Given the description of an element on the screen output the (x, y) to click on. 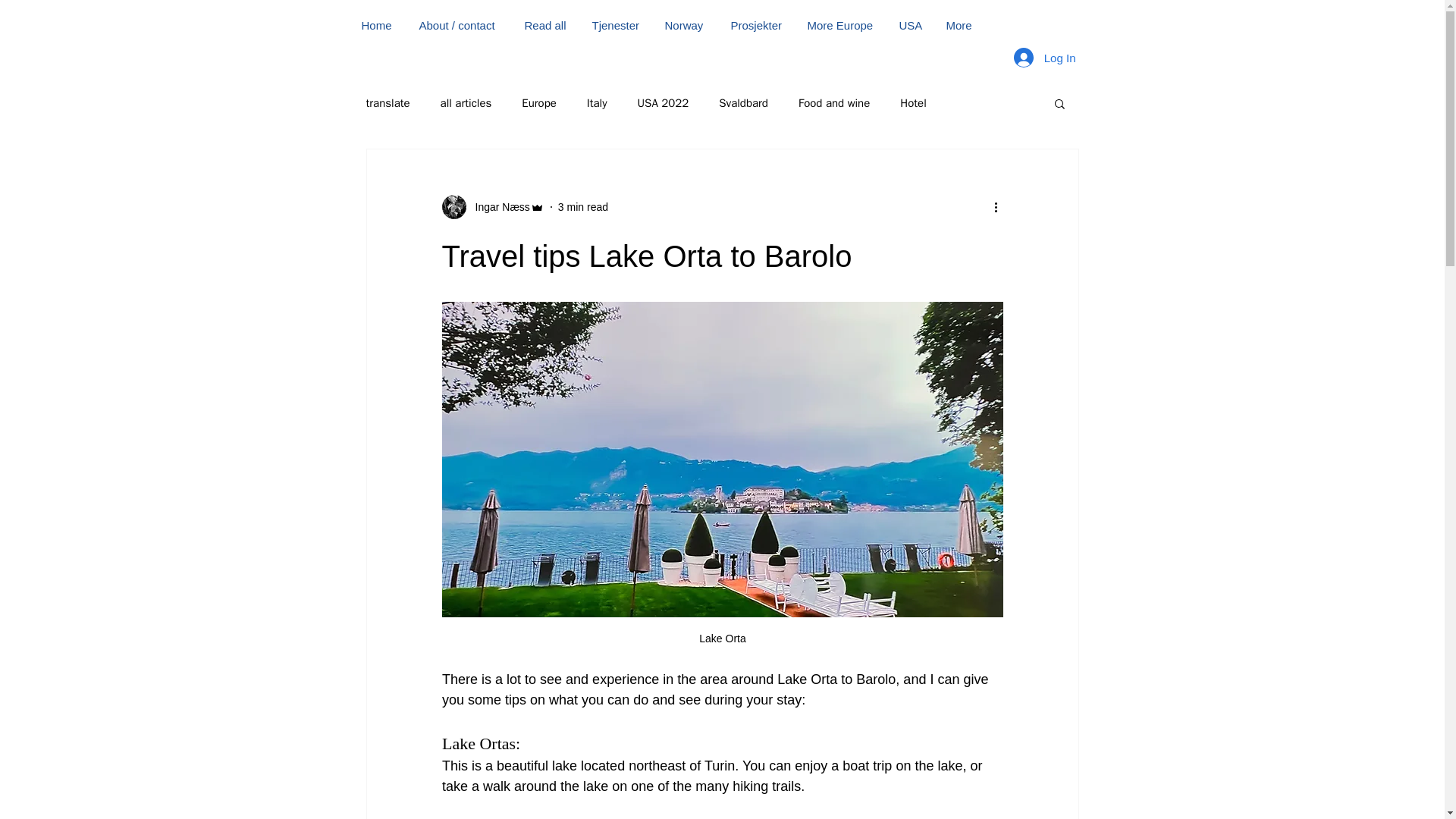
More Europe (842, 25)
Hotel (912, 102)
USA 2022 (662, 102)
Food and wine (833, 102)
USA (912, 25)
Tjenester (616, 25)
translate (387, 102)
Svaldbard (743, 102)
Log In (1044, 57)
Europe (538, 102)
